Given the description of an element on the screen output the (x, y) to click on. 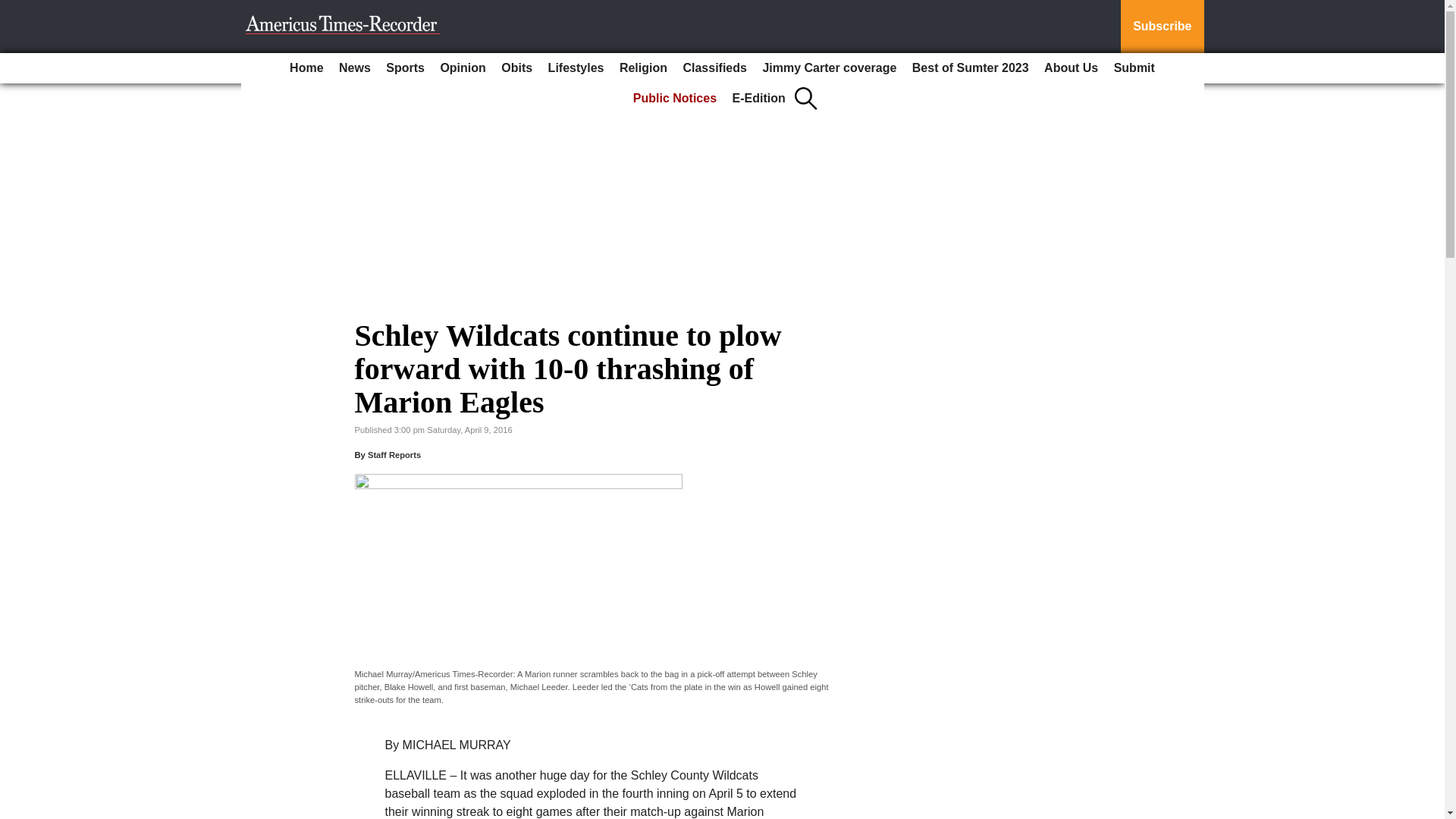
Religion (642, 68)
Submit (1134, 68)
E-Edition (759, 98)
Staff Reports (394, 454)
Opinion (462, 68)
Sports (405, 68)
Go (13, 9)
Jimmy Carter coverage (828, 68)
Classifieds (714, 68)
Best of Sumter 2023 (970, 68)
Subscribe (1162, 26)
Public Notices (674, 98)
About Us (1070, 68)
Obits (516, 68)
Home (306, 68)
